Given the description of an element on the screen output the (x, y) to click on. 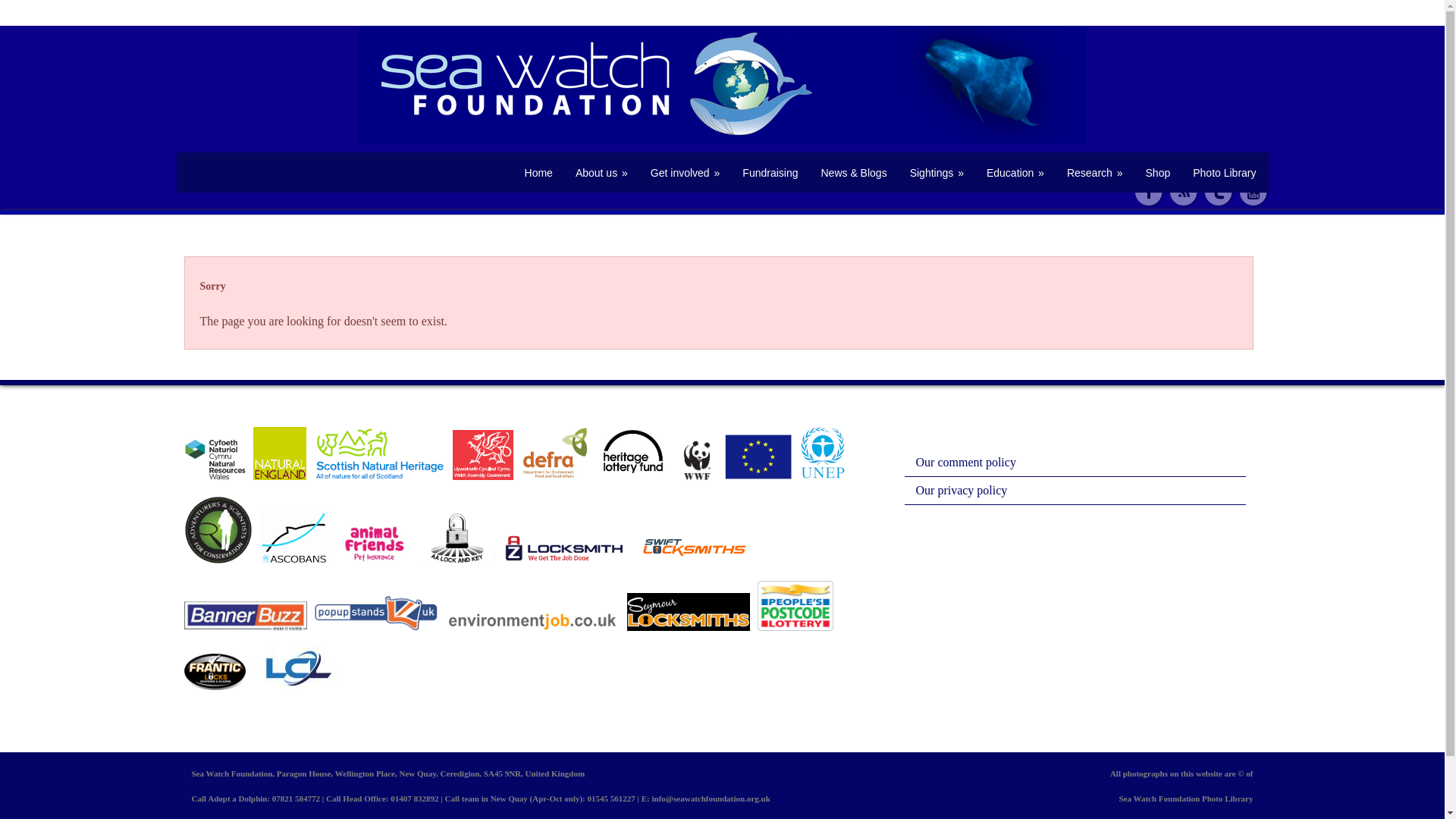
Home (538, 172)
Sea Watch Foundation (538, 172)
Fundraising (769, 172)
About Sea Watch Foundation (601, 172)
Whale and dolphin conservation volunteering (685, 172)
